Given the description of an element on the screen output the (x, y) to click on. 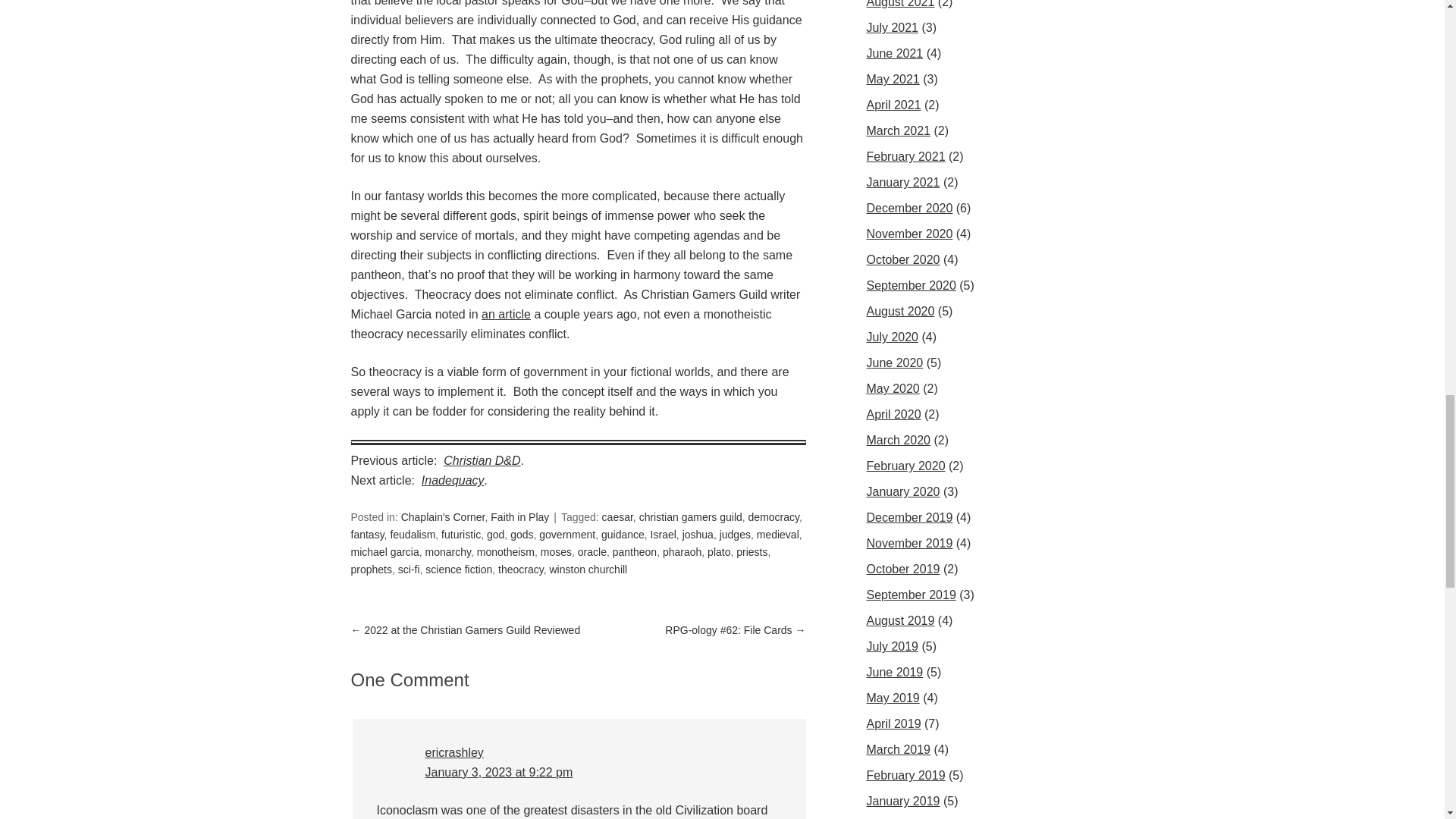
priests (751, 551)
Israel (663, 534)
Chaplain's Corner (442, 517)
joshua (697, 534)
christian gamers guild (690, 517)
sci-fi (408, 569)
god (494, 534)
prophets (370, 569)
Tuesday, January 3, 2023, 9:22 pm (498, 771)
pharaoh (681, 551)
an article (506, 314)
Faith in Play (519, 517)
caesar (617, 517)
michael garcia (384, 551)
judges (735, 534)
